Given the description of an element on the screen output the (x, y) to click on. 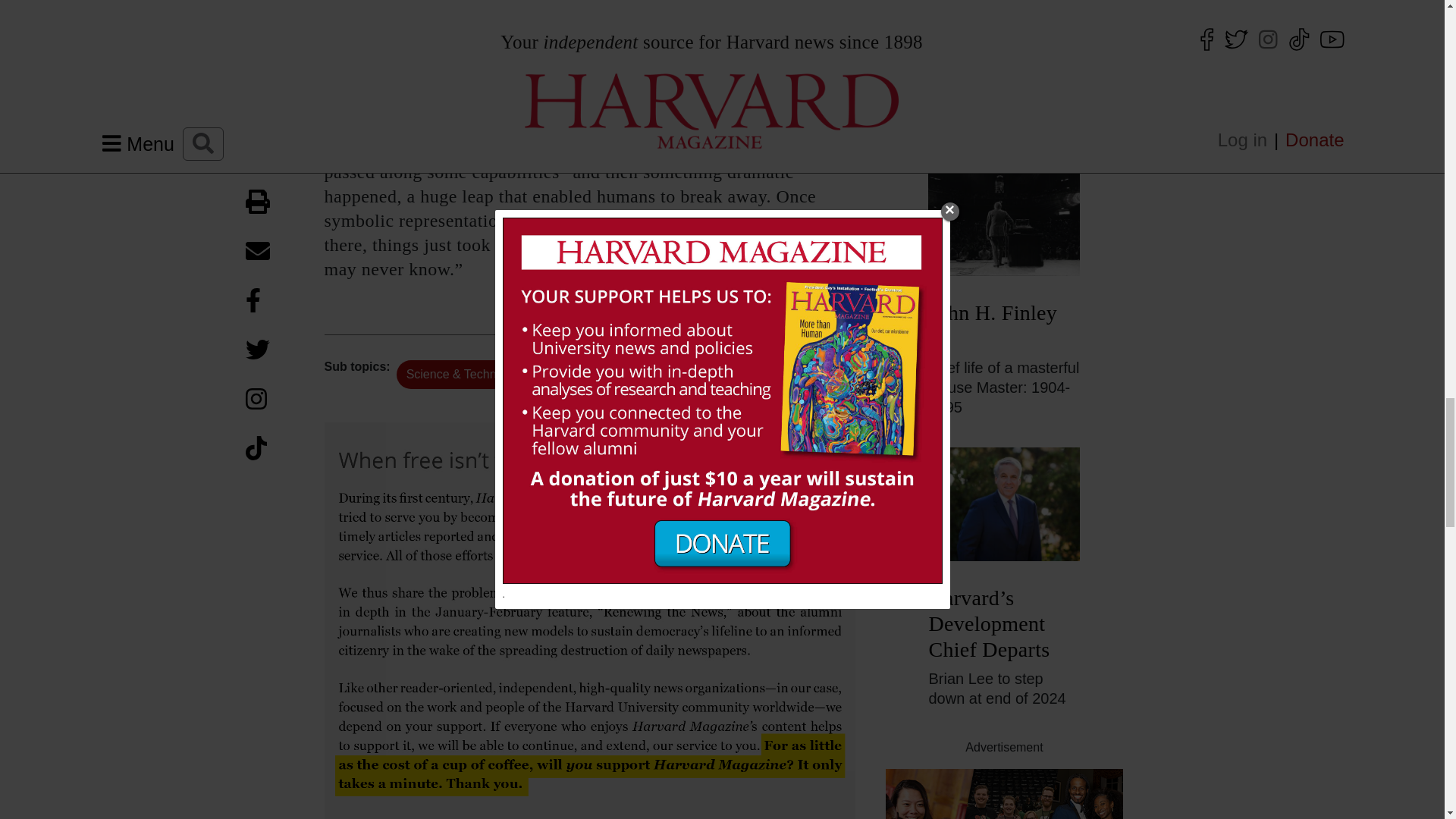
This is your year. (1003, 794)
